Given the description of an element on the screen output the (x, y) to click on. 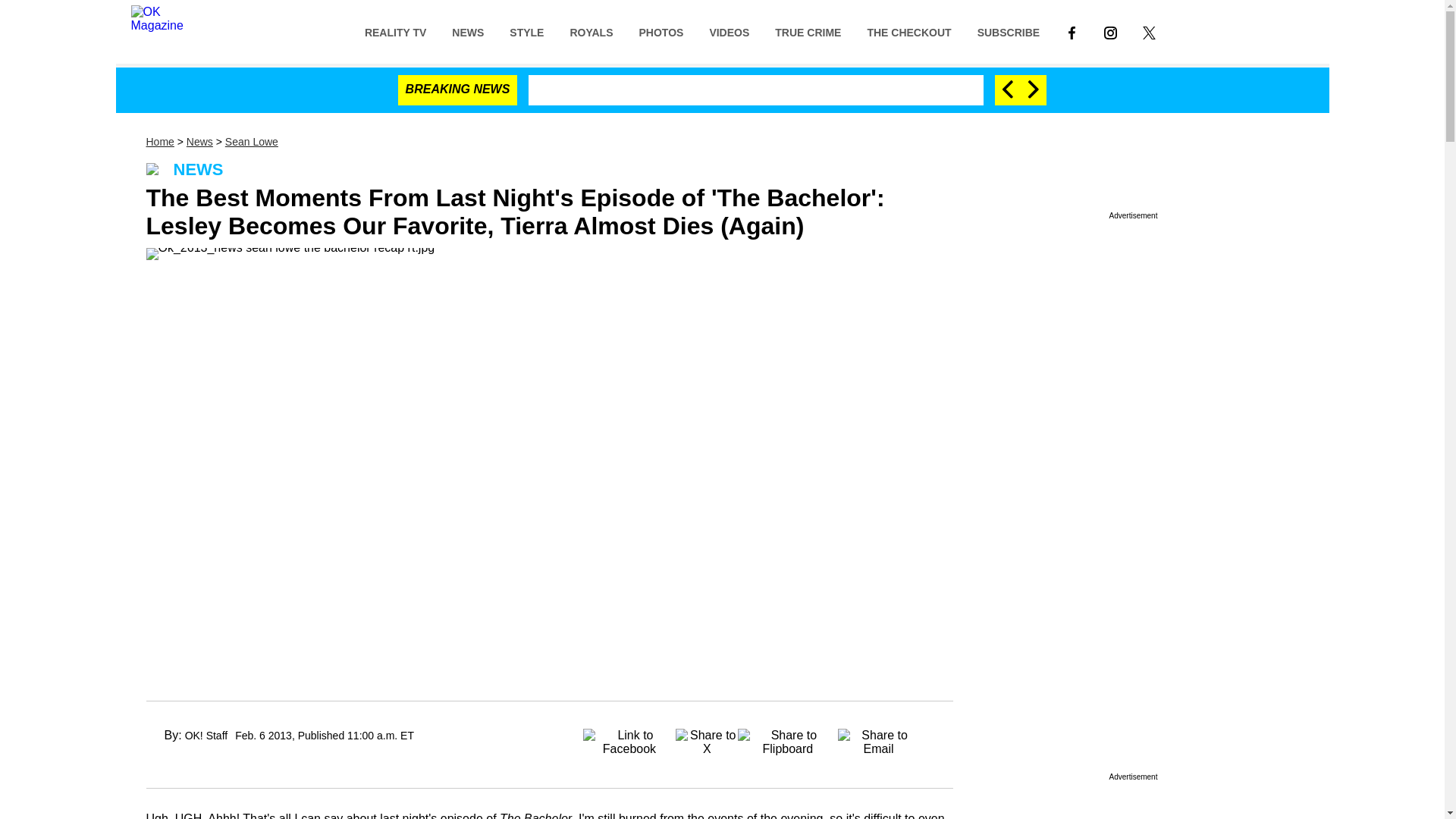
TRUE CRIME (807, 31)
THE CHECKOUT (908, 31)
Sean Lowe (251, 141)
STYLE (526, 31)
VIDEOS (728, 31)
LINK TO X (1149, 31)
ROYALS (591, 31)
LINK TO INSTAGRAM (1109, 31)
Link to Facebook (1071, 31)
Share to Email (879, 737)
Share to Flipboard (788, 737)
NEWS (467, 31)
LINK TO X (1149, 32)
Home (159, 141)
PHOTOS (661, 31)
